Given the description of an element on the screen output the (x, y) to click on. 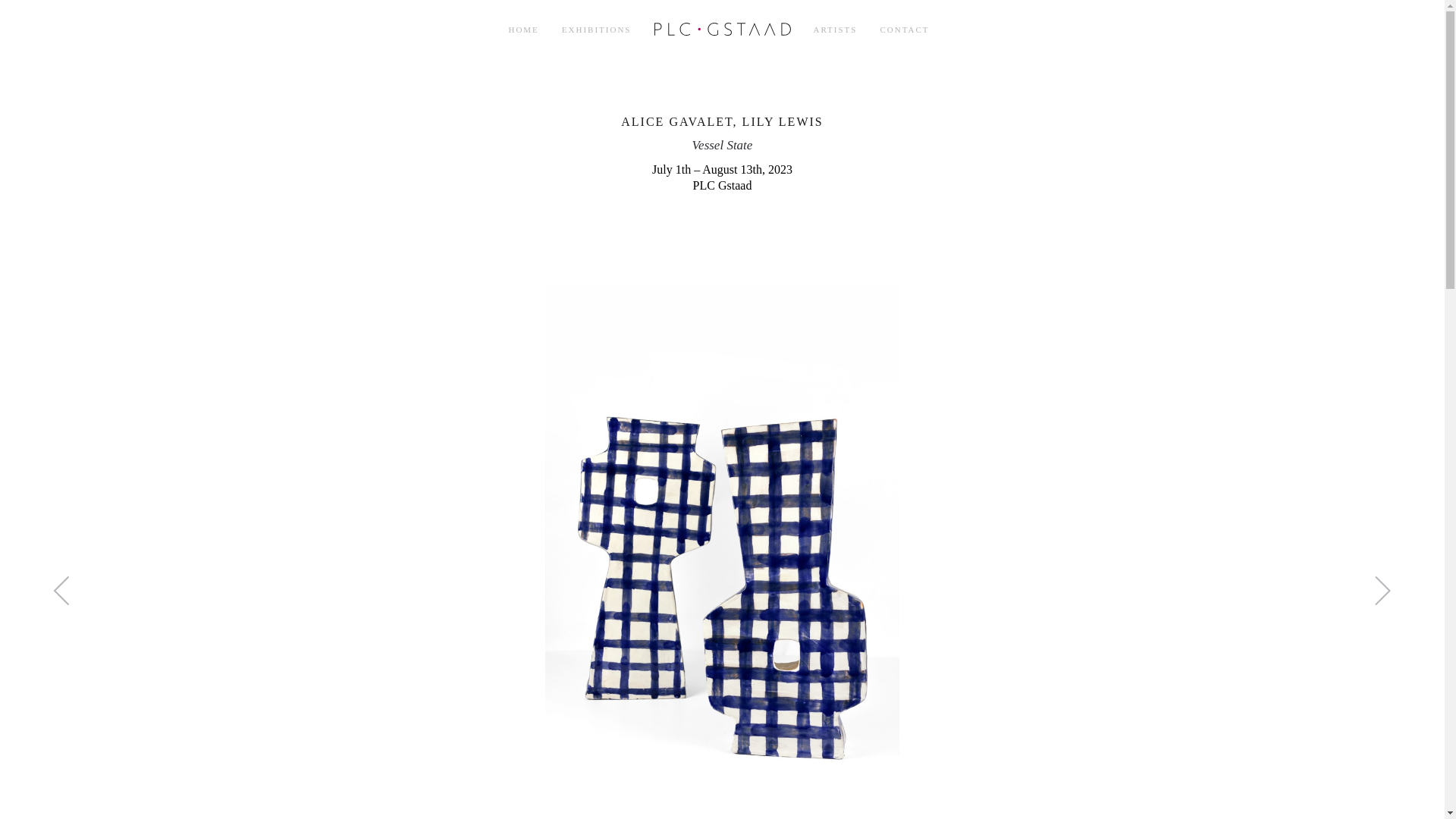
CONTACT (903, 30)
ARTISTS (835, 30)
EXHIBITIONS (596, 30)
